Given the description of an element on the screen output the (x, y) to click on. 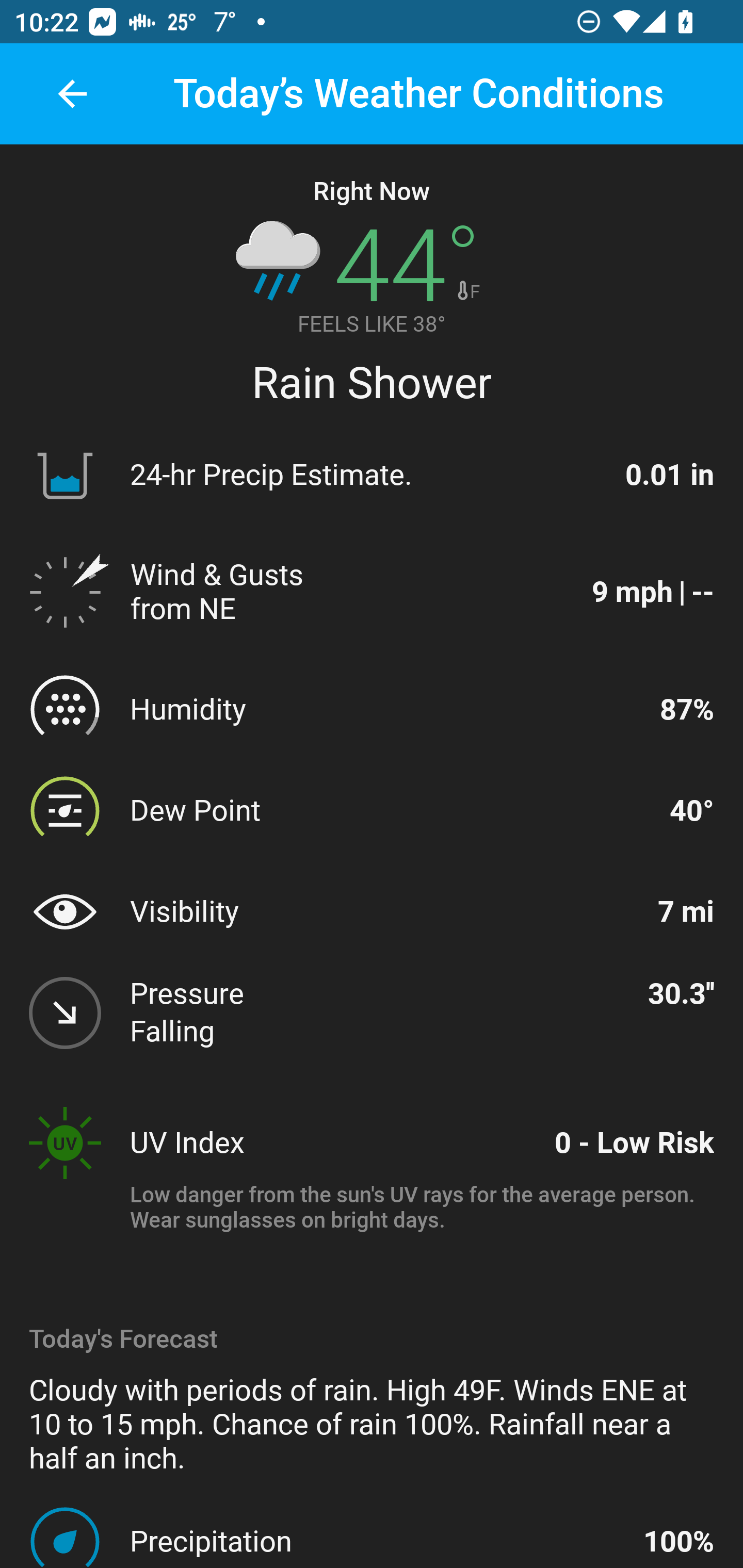
back (71, 93)
Precipitation (377, 1541)
100% (678, 1541)
